Given the description of an element on the screen output the (x, y) to click on. 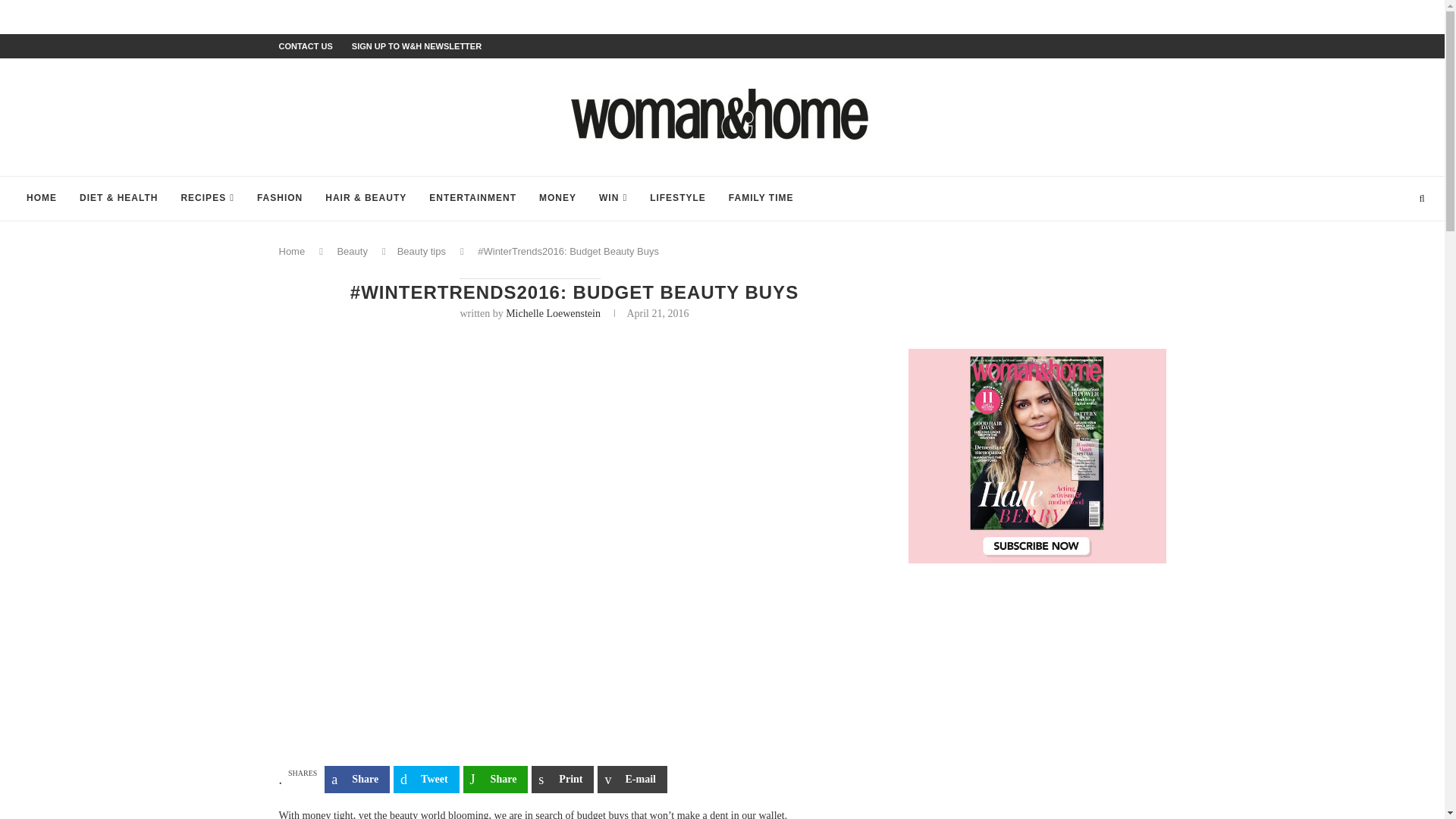
ENTERTAINMENT (472, 198)
HOME (41, 198)
Share (357, 779)
Share (495, 779)
FASHION (280, 198)
RECIPES (206, 198)
Share on E-mail (631, 779)
Beauty tips (421, 251)
Share on Share (495, 779)
WIN (613, 198)
